Given the description of an element on the screen output the (x, y) to click on. 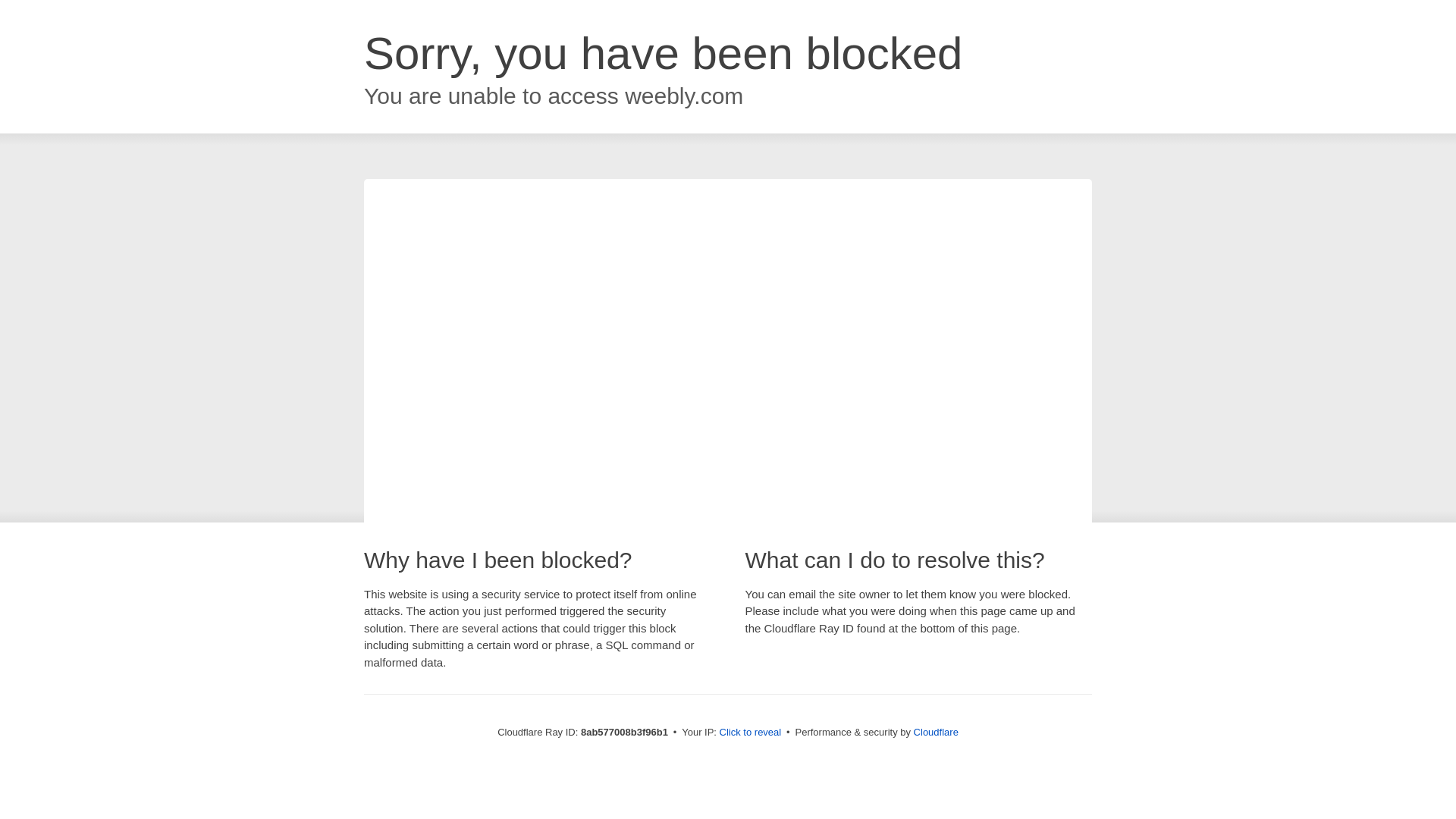
Cloudflare (936, 731)
Click to reveal (750, 732)
